Given the description of an element on the screen output the (x, y) to click on. 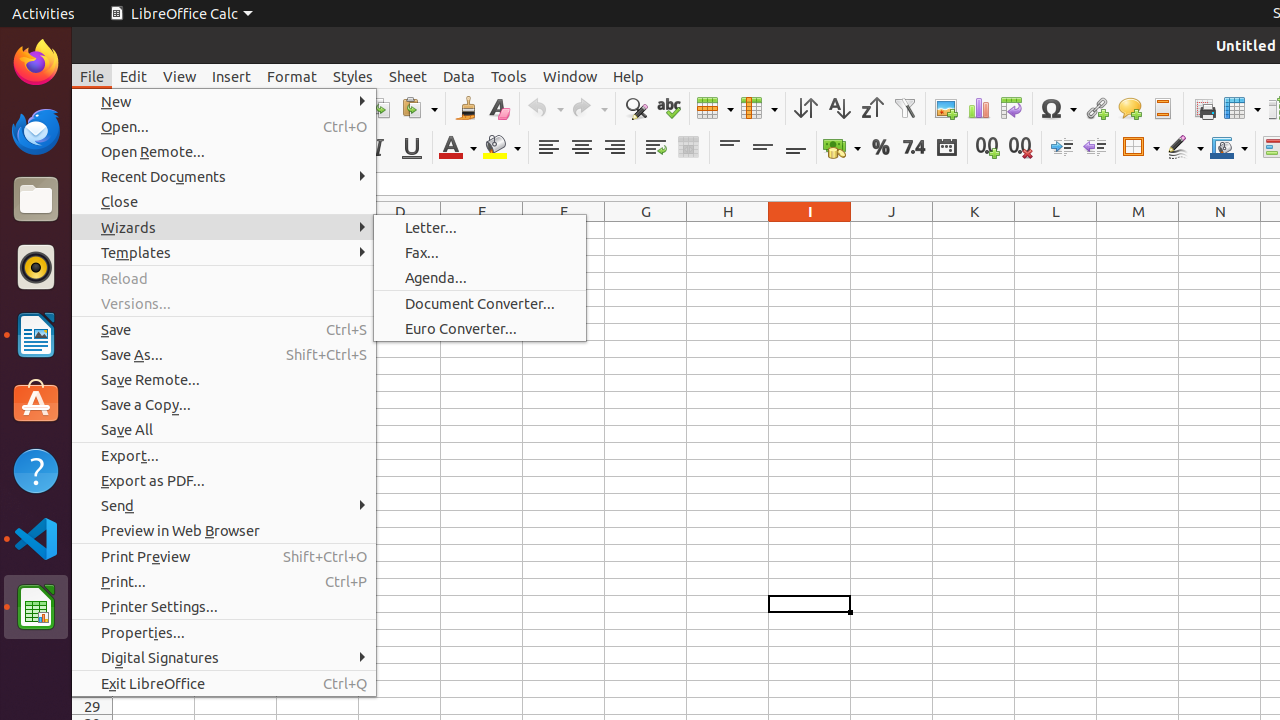
Exit LibreOffice Element type: menu-item (224, 683)
Format Element type: menu (292, 76)
Symbol Element type: push-button (1058, 108)
Hyperlink Element type: toggle-button (1096, 108)
M1 Element type: table-cell (1138, 230)
